Given the description of an element on the screen output the (x, y) to click on. 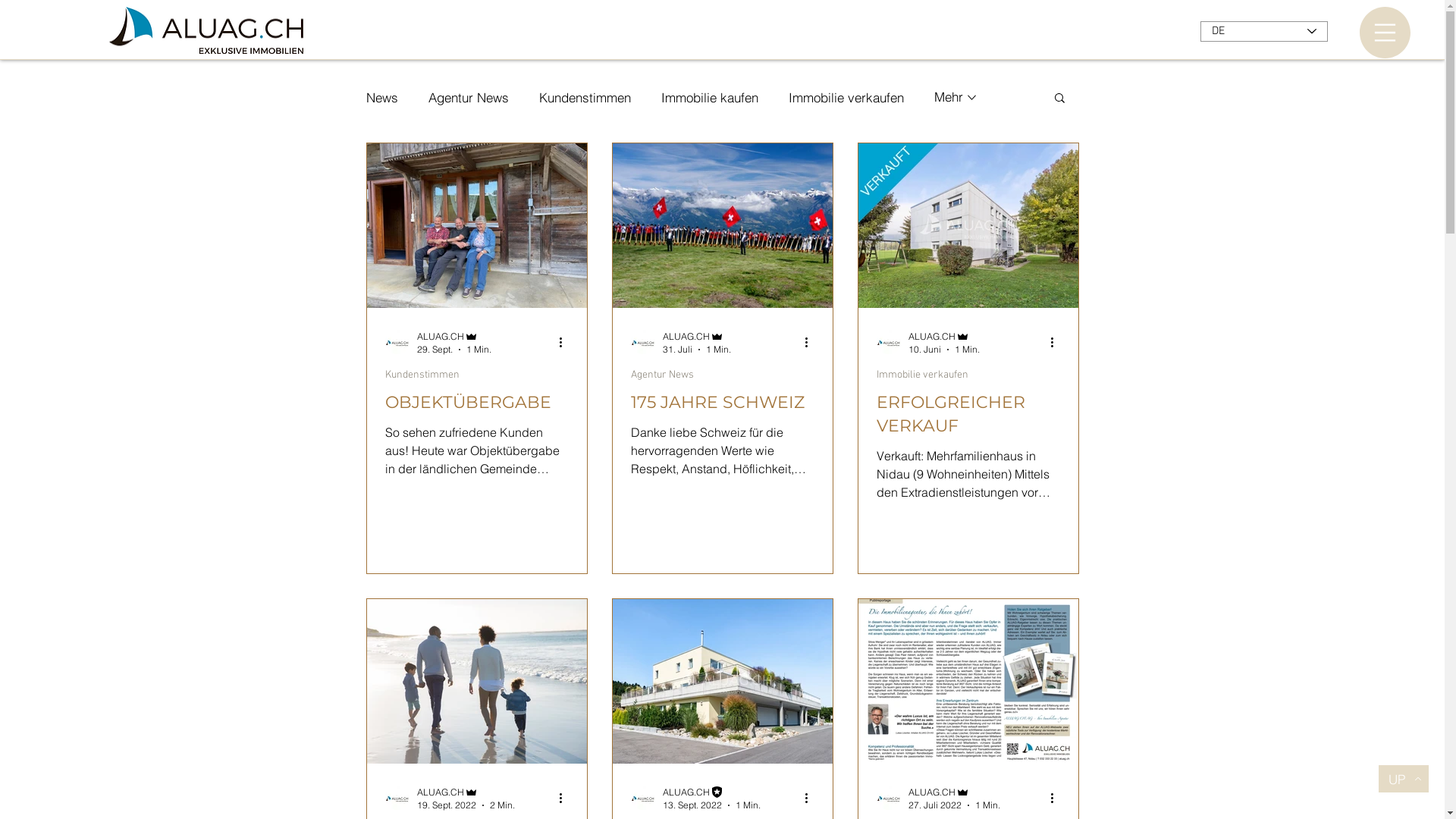
Immobilie verkaufen Element type: text (845, 97)
News Element type: text (381, 97)
Immobilie verkaufen Element type: text (922, 374)
Immobilie kaufen Element type: text (709, 97)
ALUAG.CH Element type: text (465, 791)
ALUAG.CH Element type: text (943, 336)
ALUAG.CH Element type: text (454, 336)
ALUAG.CH Element type: text (696, 336)
UP Element type: text (1403, 778)
Kundenstimmen Element type: text (584, 97)
175 JAHRE SCHWEIZ Element type: text (722, 402)
Agentur News Element type: text (661, 374)
ALUAG.CH Element type: text (711, 791)
Kundenstimmen Element type: text (422, 374)
ERFOLGREICHER VERKAUF Element type: text (968, 414)
ALUAG.CH Element type: text (954, 791)
Agentur News Element type: text (467, 97)
